Given the description of an element on the screen output the (x, y) to click on. 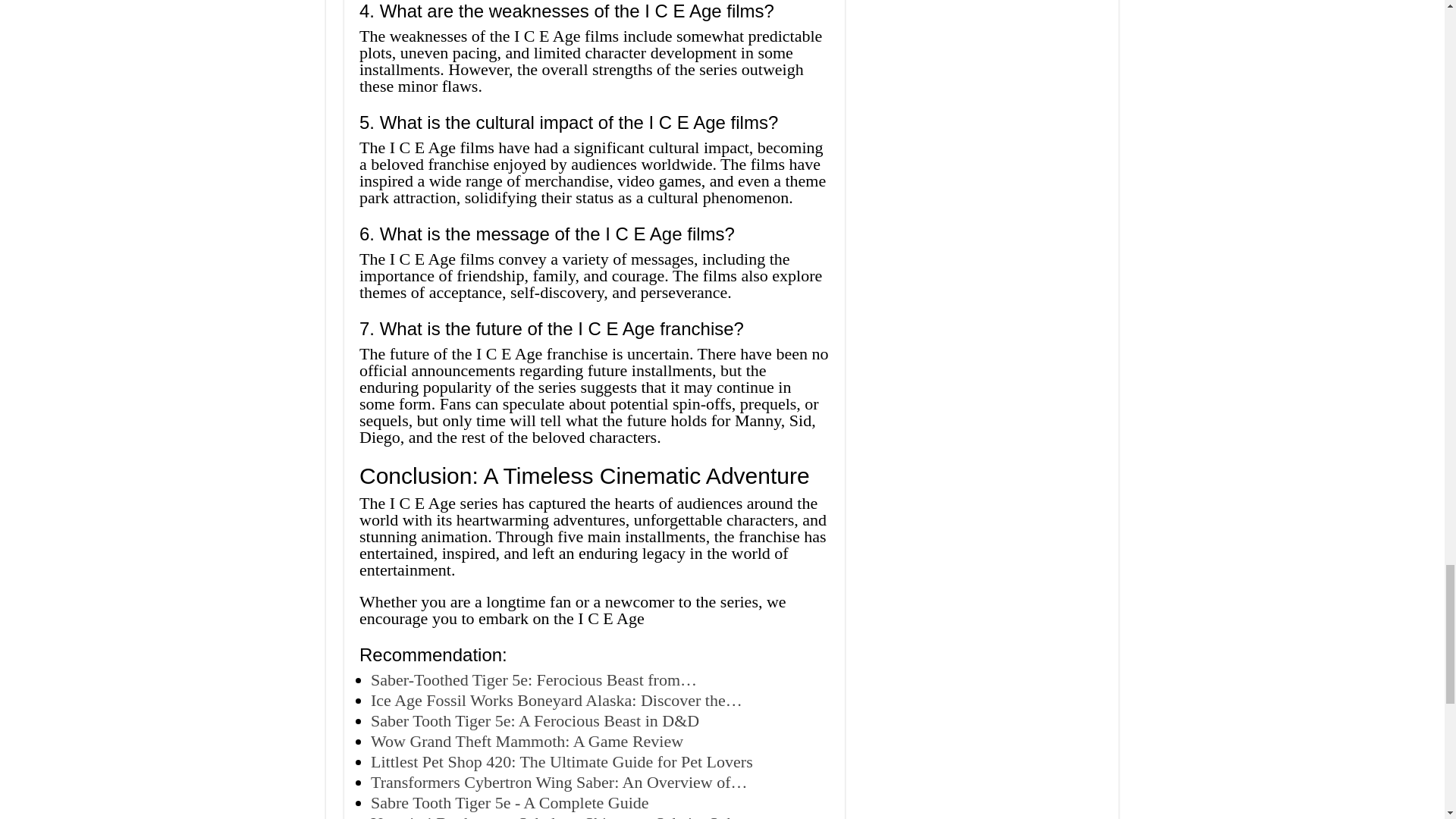
Wow Grand Theft Mammoth: A Game Review (526, 741)
What are the weaknesses of the I C E Age films? (594, 11)
What is the future of the I C E Age franchise? (594, 329)
Littlest Pet Shop 420: The Ultimate Guide for Pet Lovers (561, 761)
What is the cultural impact of the I C E Age films? (594, 122)
What is the message of the I C E Age films? (594, 234)
